Given the description of an element on the screen output the (x, y) to click on. 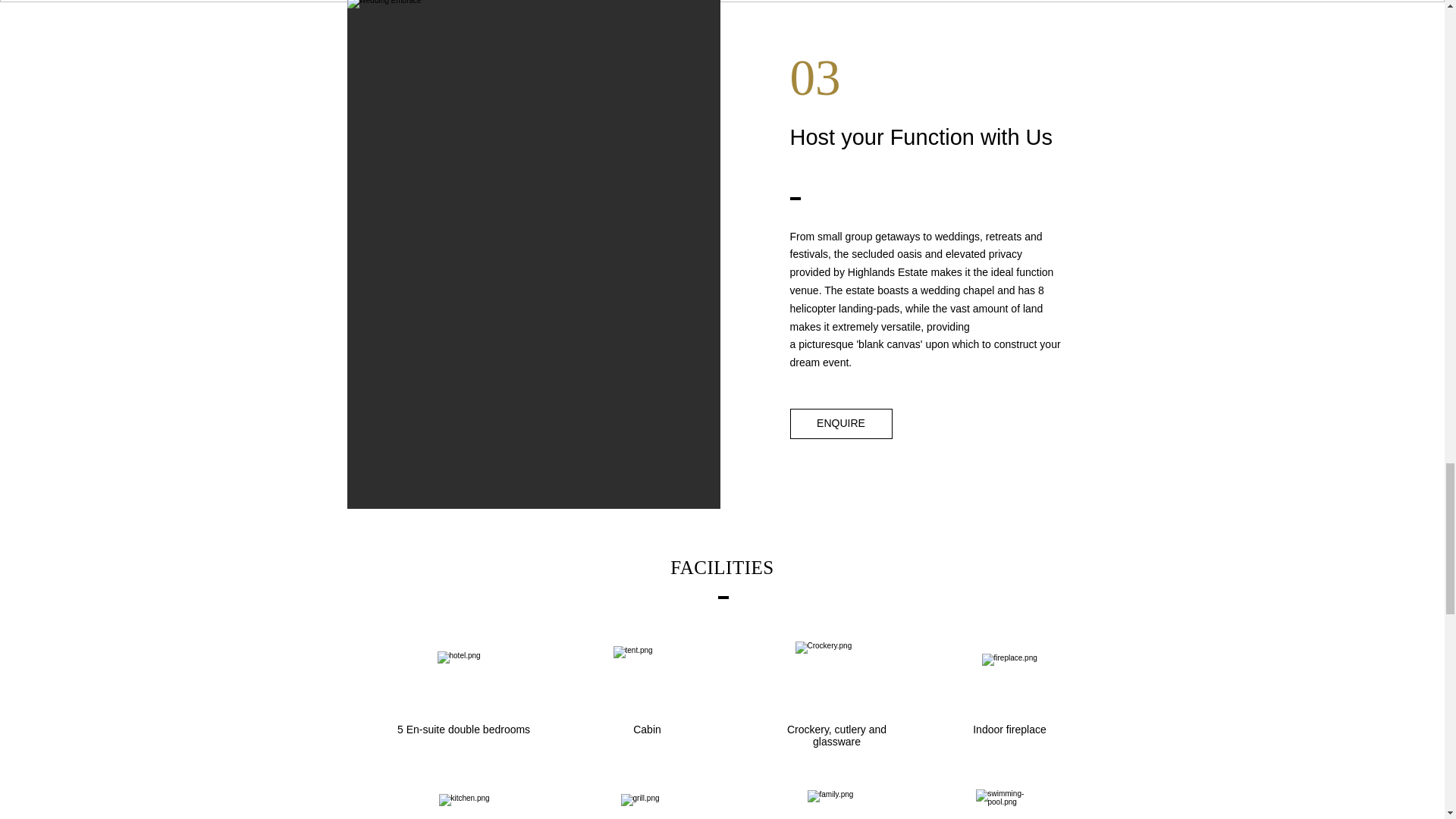
ENQUIRE (841, 423)
